Given the description of an element on the screen output the (x, y) to click on. 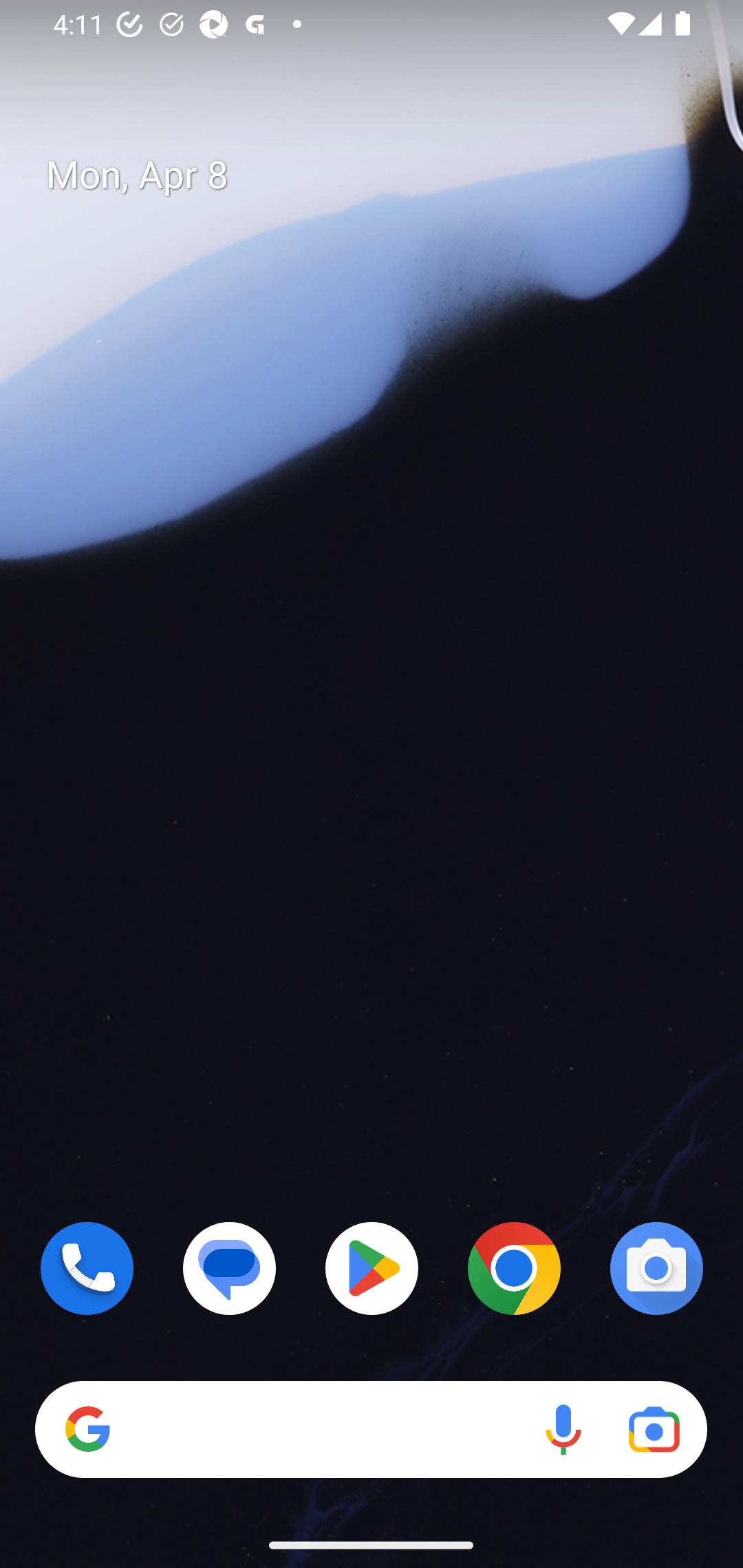
Mon, Apr 8 (386, 175)
Phone (86, 1268)
Messages (229, 1268)
Play Store (371, 1268)
Chrome (513, 1268)
Camera (656, 1268)
Search Voice search Google Lens (370, 1429)
Voice search (562, 1429)
Google Lens (653, 1429)
